Given the description of an element on the screen output the (x, y) to click on. 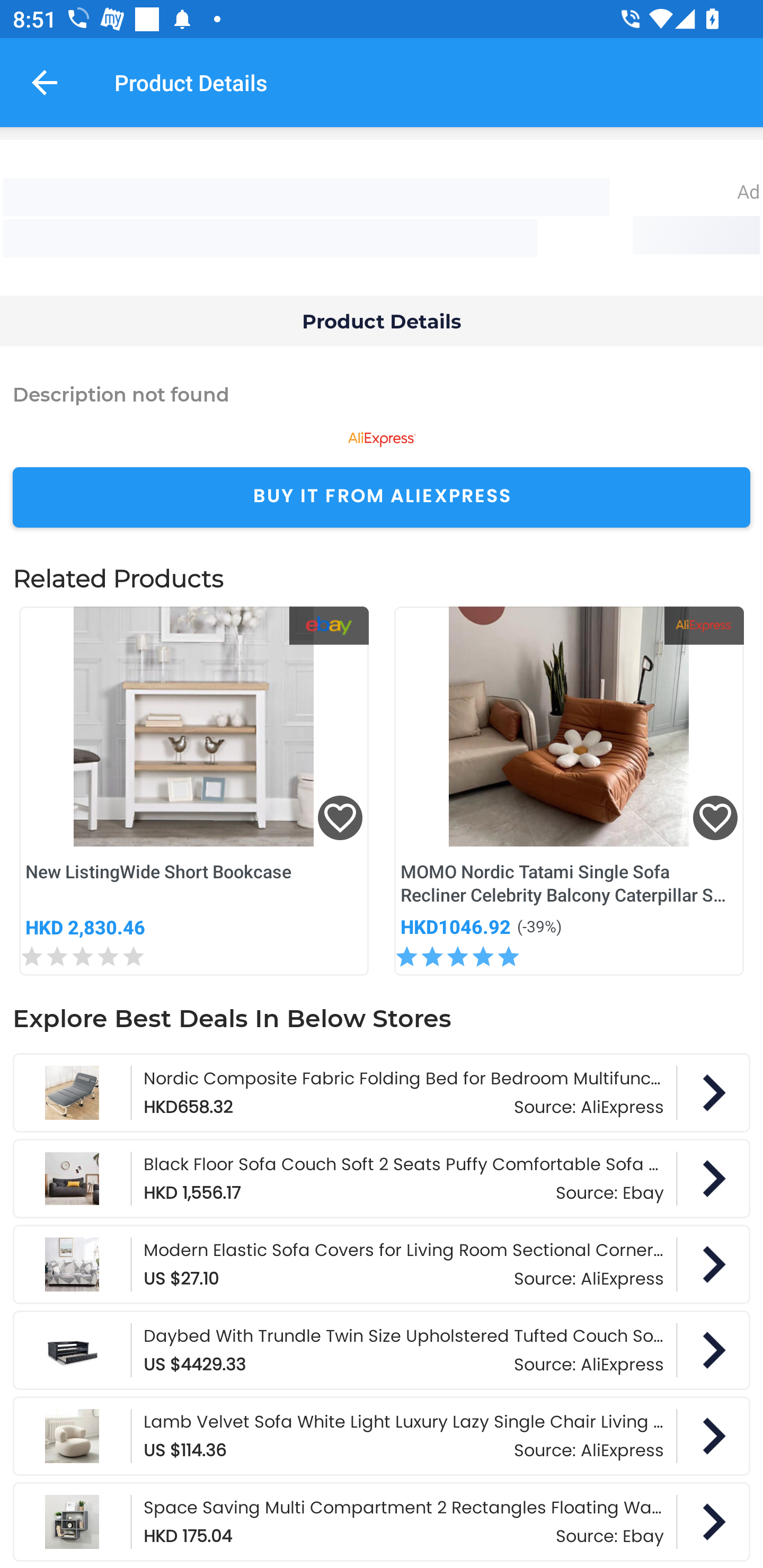
Navigate up (44, 82)
Description not found (381, 393)
BUY IT FROM ALIEXPRESS (381, 497)
New ListingWide Short Bookcase HKD 2,830.46 0.0 (193, 790)
